Given the description of an element on the screen output the (x, y) to click on. 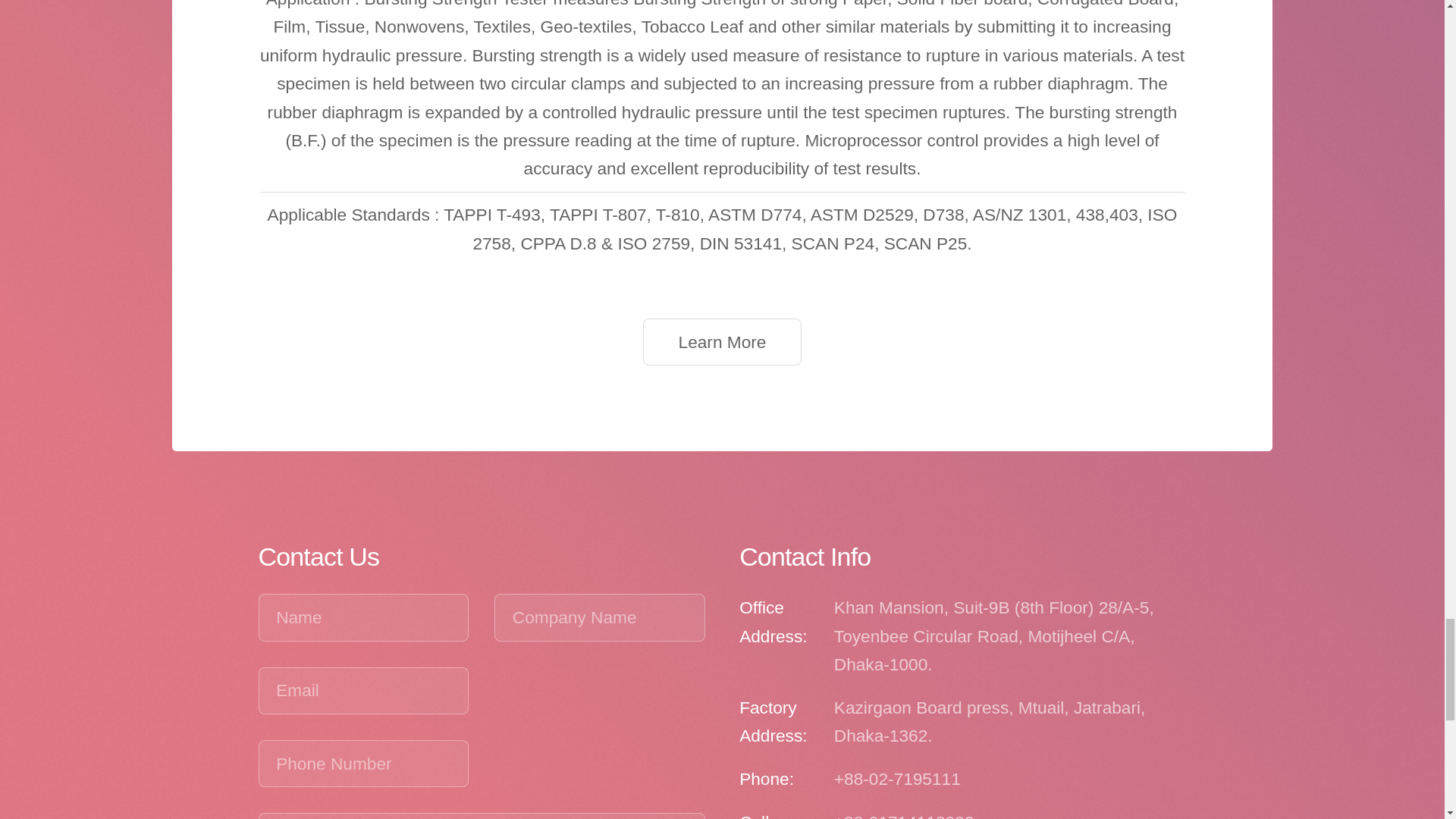
Learn More (722, 341)
